Given the description of an element on the screen output the (x, y) to click on. 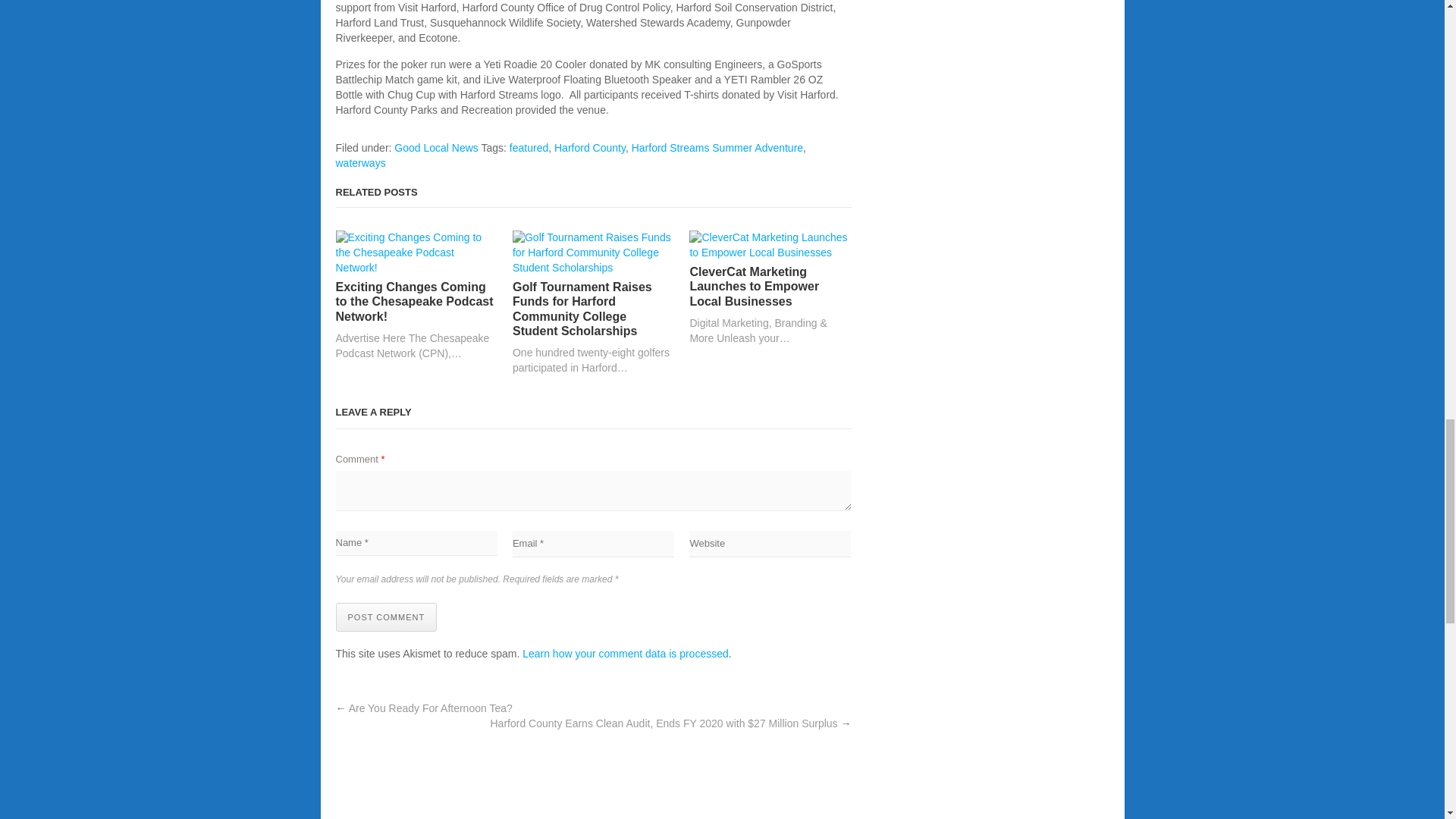
waterways (359, 162)
Good Local News (436, 147)
Harford Streams Summer Adventure (717, 147)
Harford County (590, 147)
featured (528, 147)
